Given the description of an element on the screen output the (x, y) to click on. 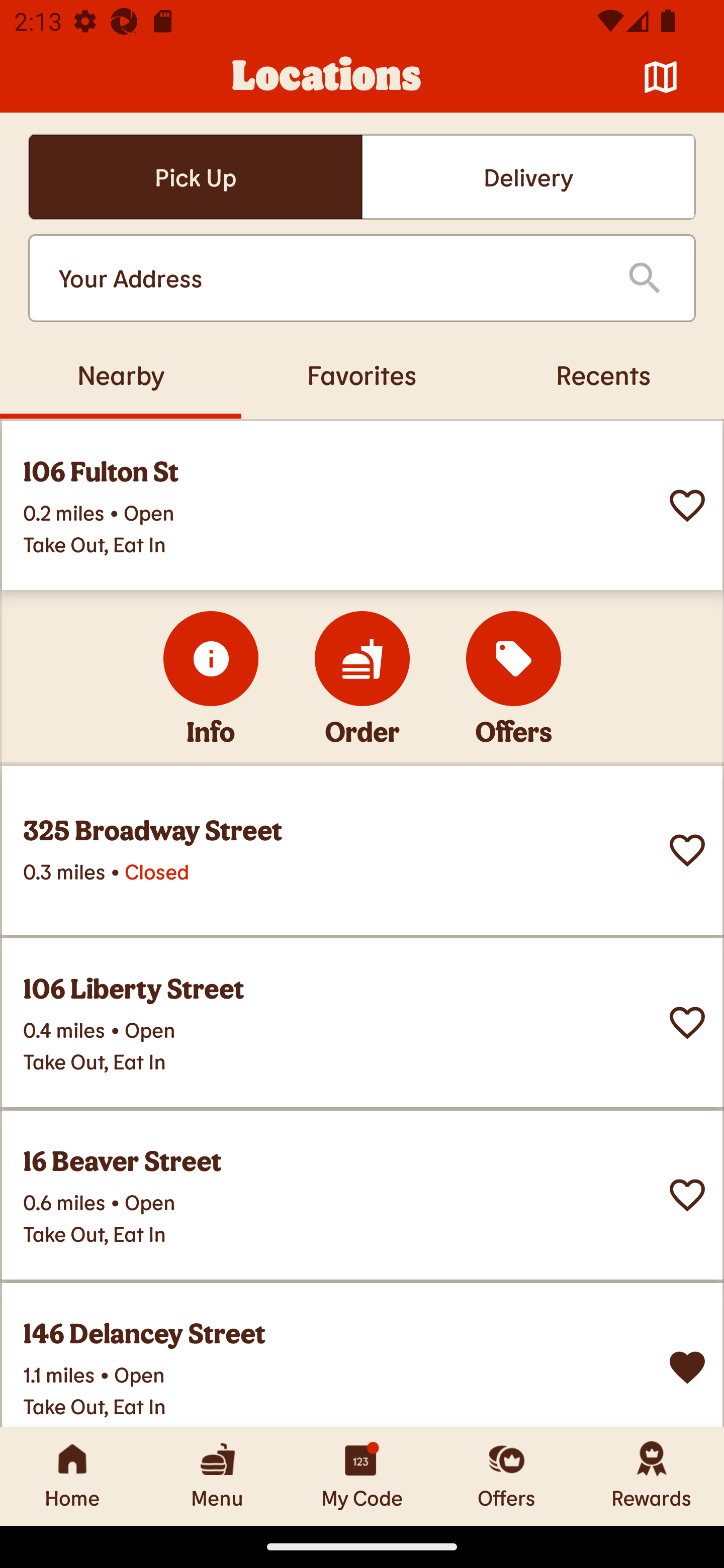
Map 󰦂 (660, 77)
Locations (326, 77)
Pick UpSelected Pick UpSelected Pick Up (195, 176)
Delivery Delivery Delivery (528, 176)
Your Address (327, 277)
Nearby (120, 374)
Favorites (361, 374)
Recents (603, 374)
Set this restaurant as a favorite  (687, 505)
Info  (210, 658)
Order (361, 658)
Offers  (513, 658)
Set this restaurant as a favorite  (687, 850)
Set this restaurant as a favorite  (687, 1022)
Set this restaurant as a favorite  (687, 1195)
Remove from Favorites?  (687, 1367)
Home (72, 1475)
Menu (216, 1475)
My Code (361, 1475)
Offers (506, 1475)
Rewards (651, 1475)
